Given the description of an element on the screen output the (x, y) to click on. 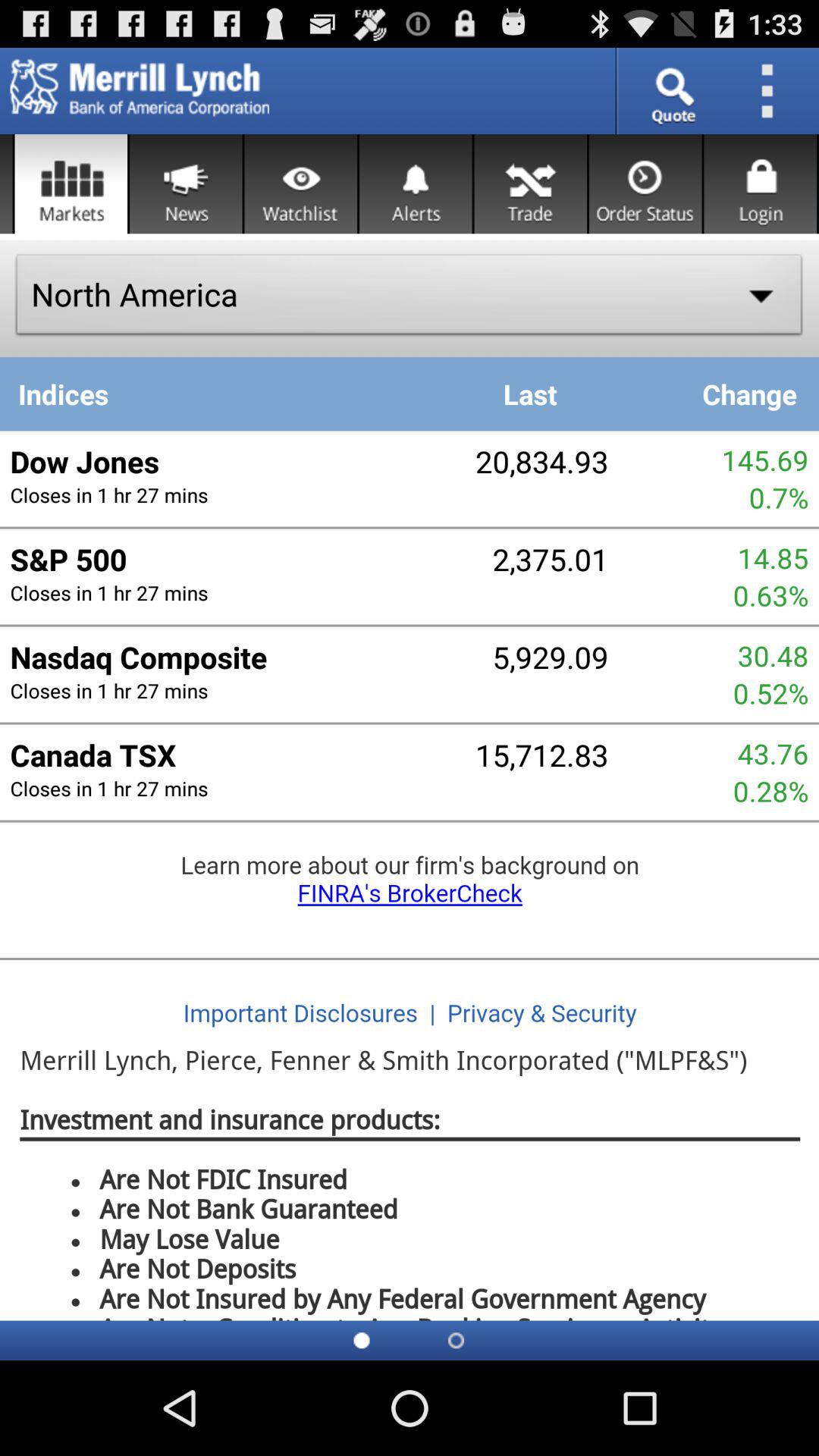
quote (671, 90)
